Given the description of an element on the screen output the (x, y) to click on. 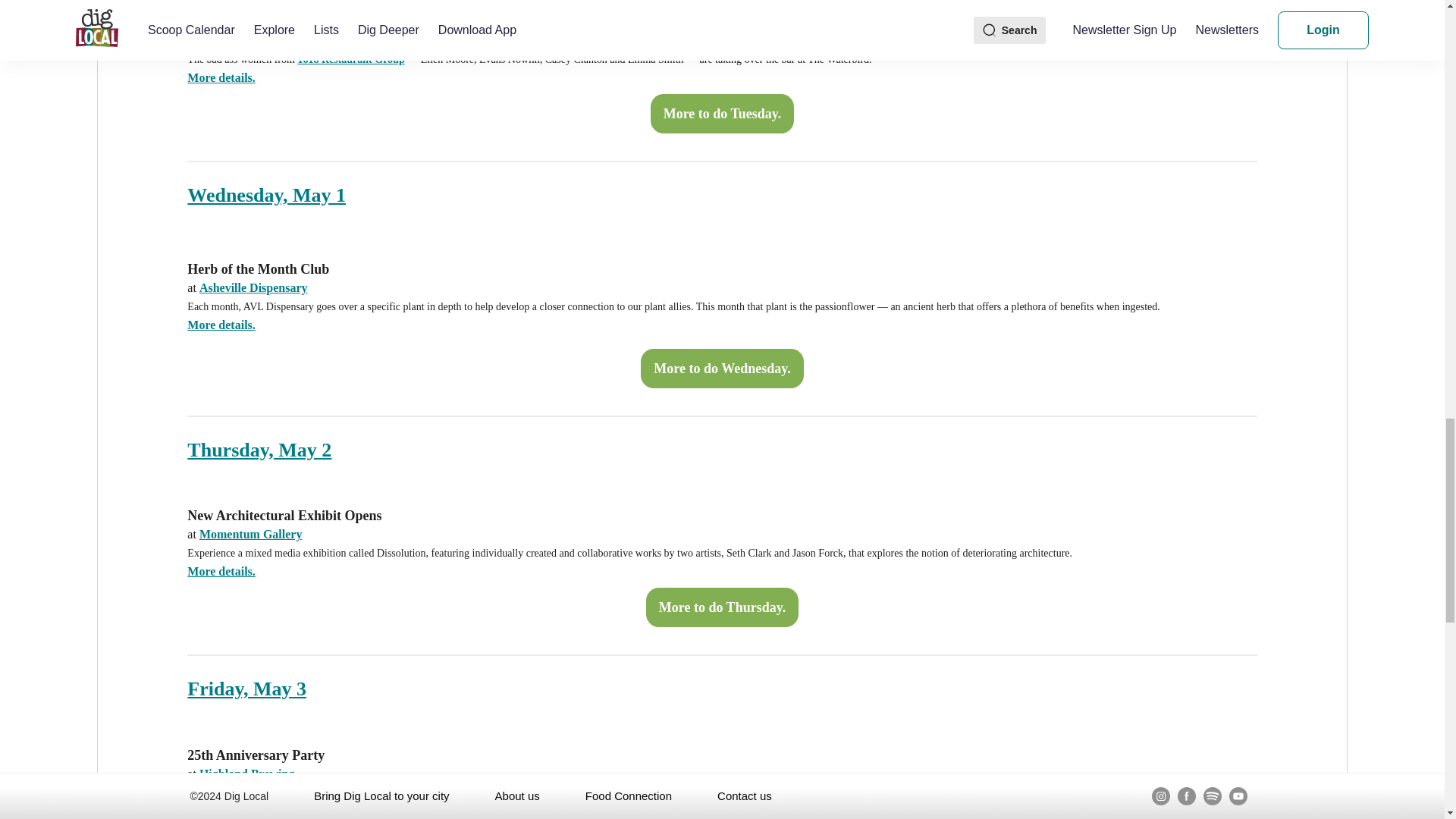
More to do Tuesday. (722, 113)
More to do Wednesday. (721, 368)
Thursday, May 2 (259, 449)
Asheville Dispensary (253, 287)
More to do Tuesday. (722, 113)
1618 Restaurant Group (350, 59)
More details. (220, 324)
The Waterbird (237, 40)
Momentum Gallery (250, 533)
More details. (220, 77)
Wednesday, May 1 (266, 194)
More details. (220, 571)
More to do Thursday. (722, 607)
More to do Thursday. (722, 607)
More to do Wednesday. (721, 368)
